Given the description of an element on the screen output the (x, y) to click on. 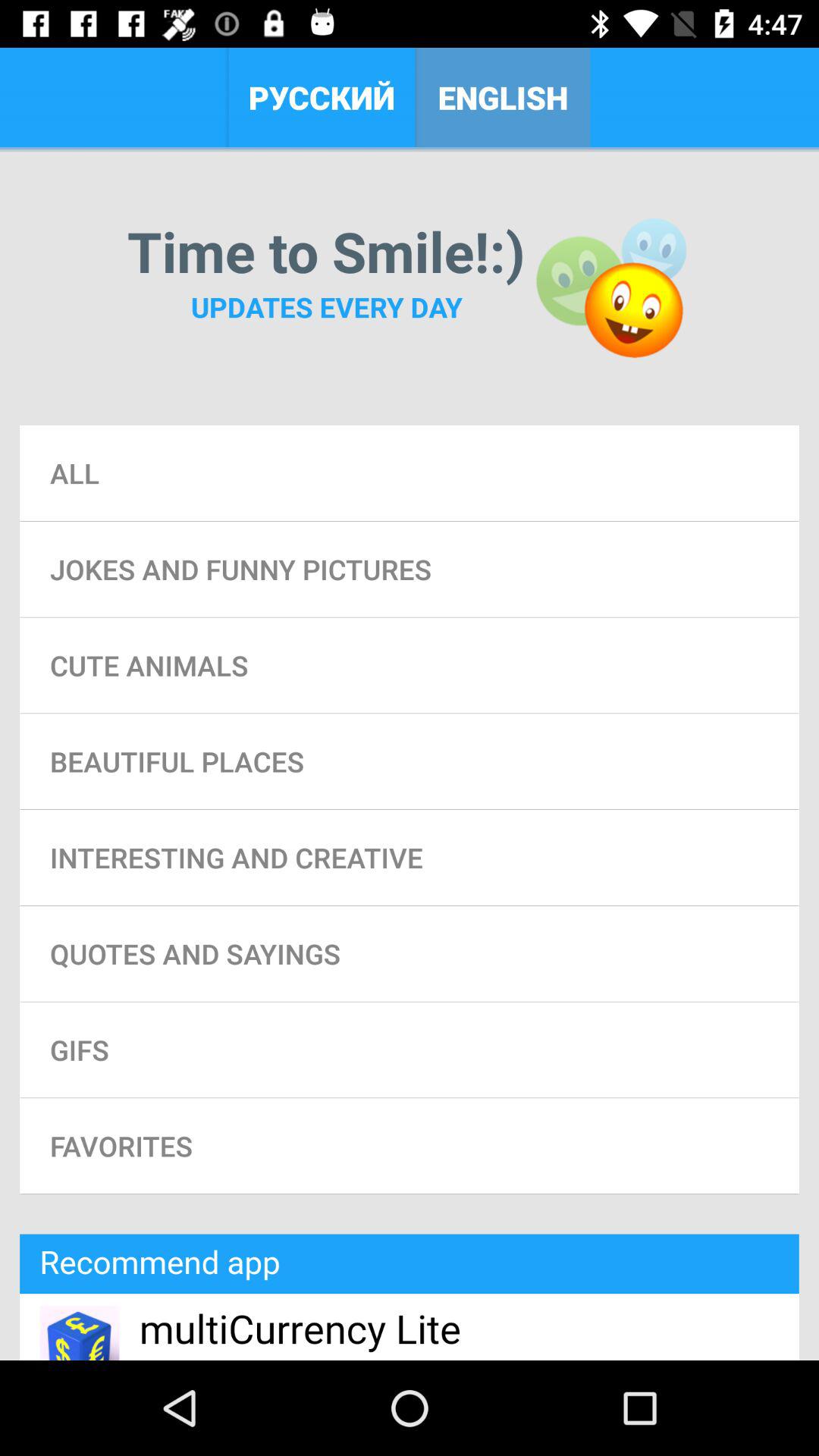
scroll until interesting and creative item (409, 857)
